Given the description of an element on the screen output the (x, y) to click on. 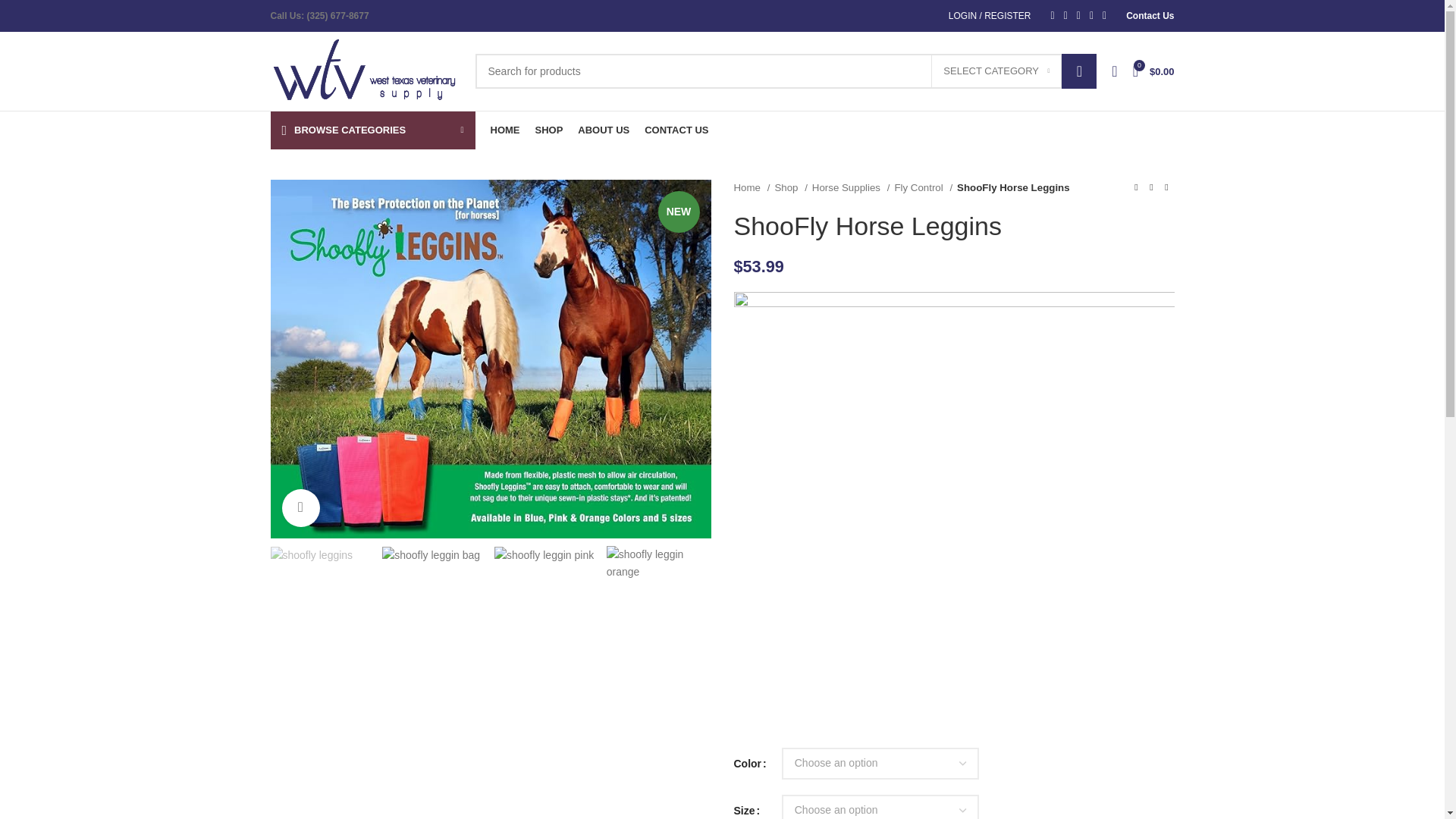
SELECT CATEGORY (996, 70)
Search for products (785, 71)
My account (989, 15)
Log in (906, 275)
Shopping cart (1153, 71)
SELECT CATEGORY (996, 70)
